Given the description of an element on the screen output the (x, y) to click on. 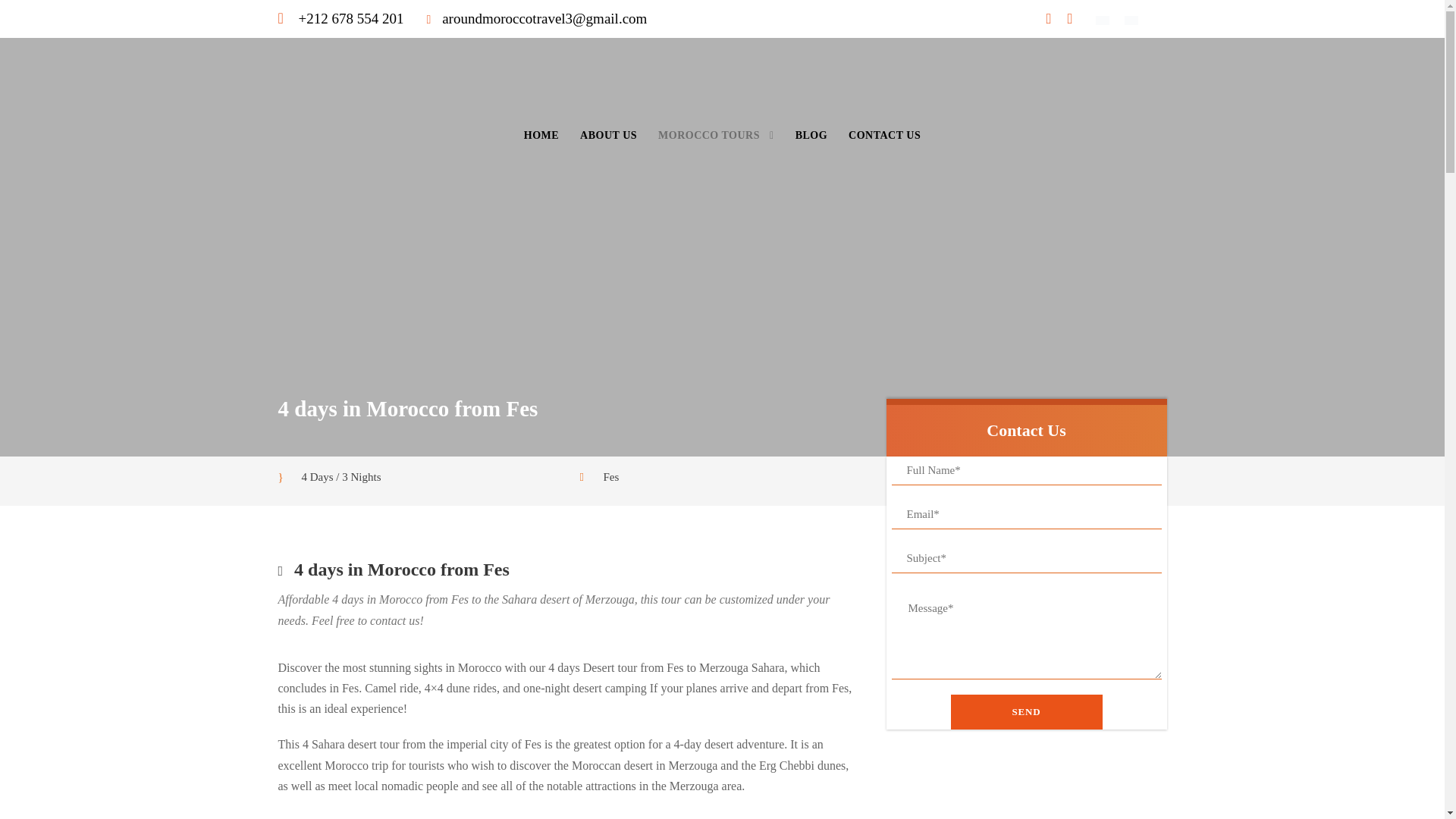
aroundmoroccotravel (721, 82)
Send (1026, 711)
